Given the description of an element on the screen output the (x, y) to click on. 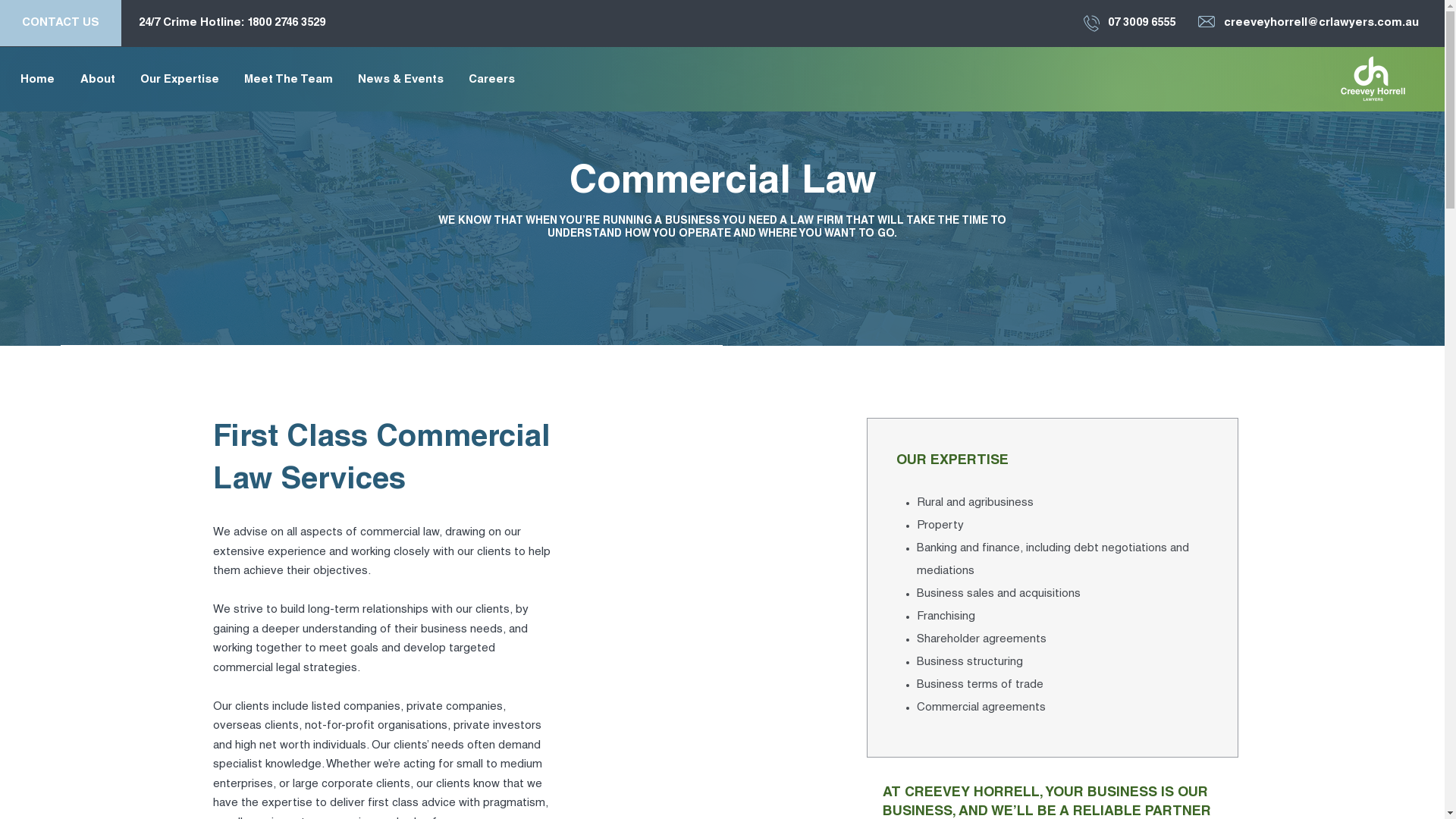
CONTACT US Element type: text (60, 23)
Meet The Team Element type: text (288, 80)
07 3009 6555 Element type: text (1141, 22)
creeveyhorrell@crlawyers.com.au Element type: text (1320, 22)
Home Element type: text (37, 80)
Careers Element type: text (491, 80)
24/7 Crime Hotline: 1800 2746 3529 Element type: text (231, 22)
